Given the description of an element on the screen output the (x, y) to click on. 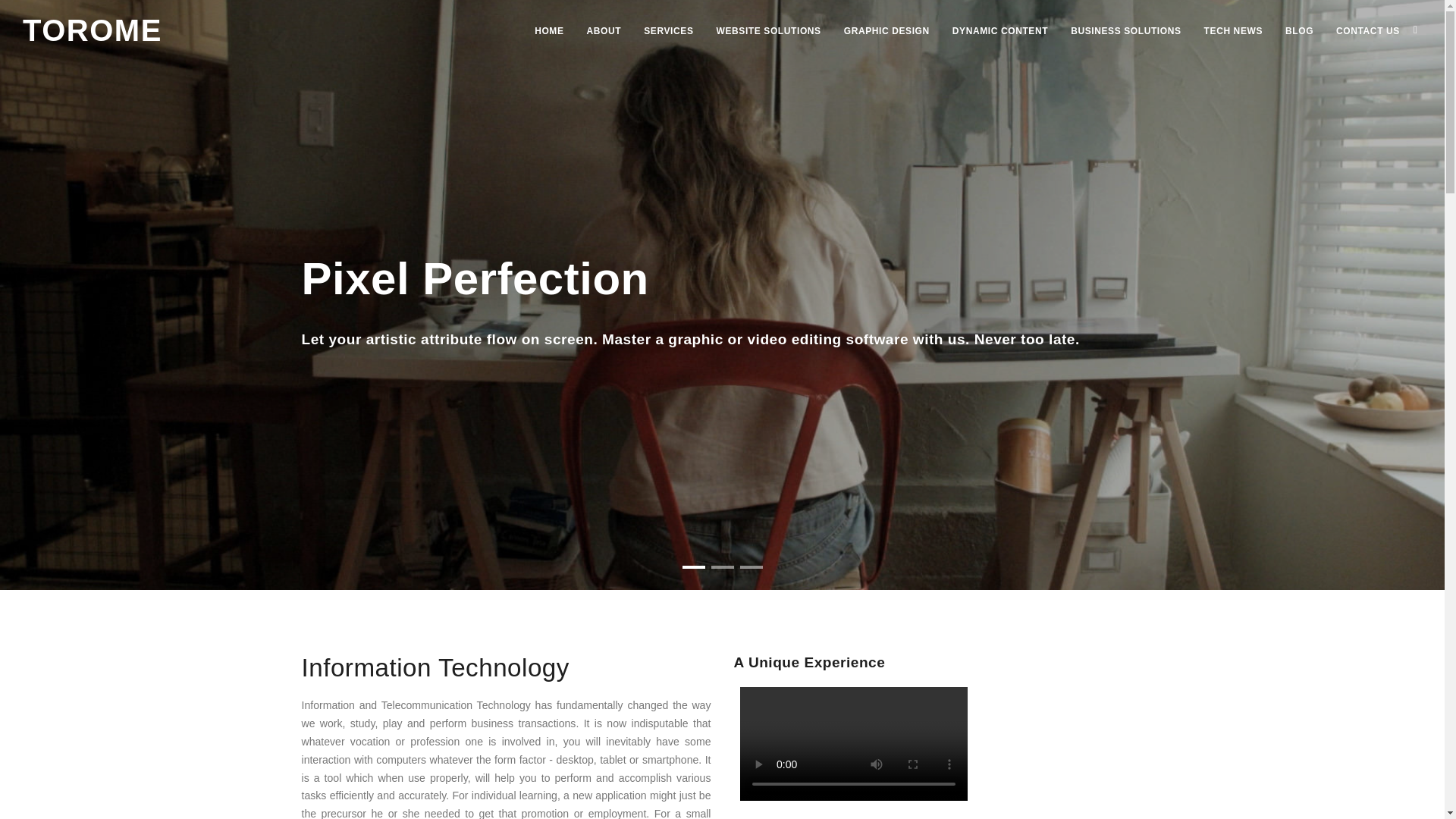
WEBSITE SOLUTIONS (767, 31)
SERVICES (667, 31)
BUSINESS SOLUTIONS (1125, 31)
TECH NEWS (1233, 31)
TOROME (92, 30)
DYNAMIC CONTENT (1000, 31)
CONTACT US (1367, 31)
HOME (548, 31)
BLOG (1299, 31)
ABOUT (604, 31)
GRAPHIC DESIGN (886, 31)
